Given the description of an element on the screen output the (x, y) to click on. 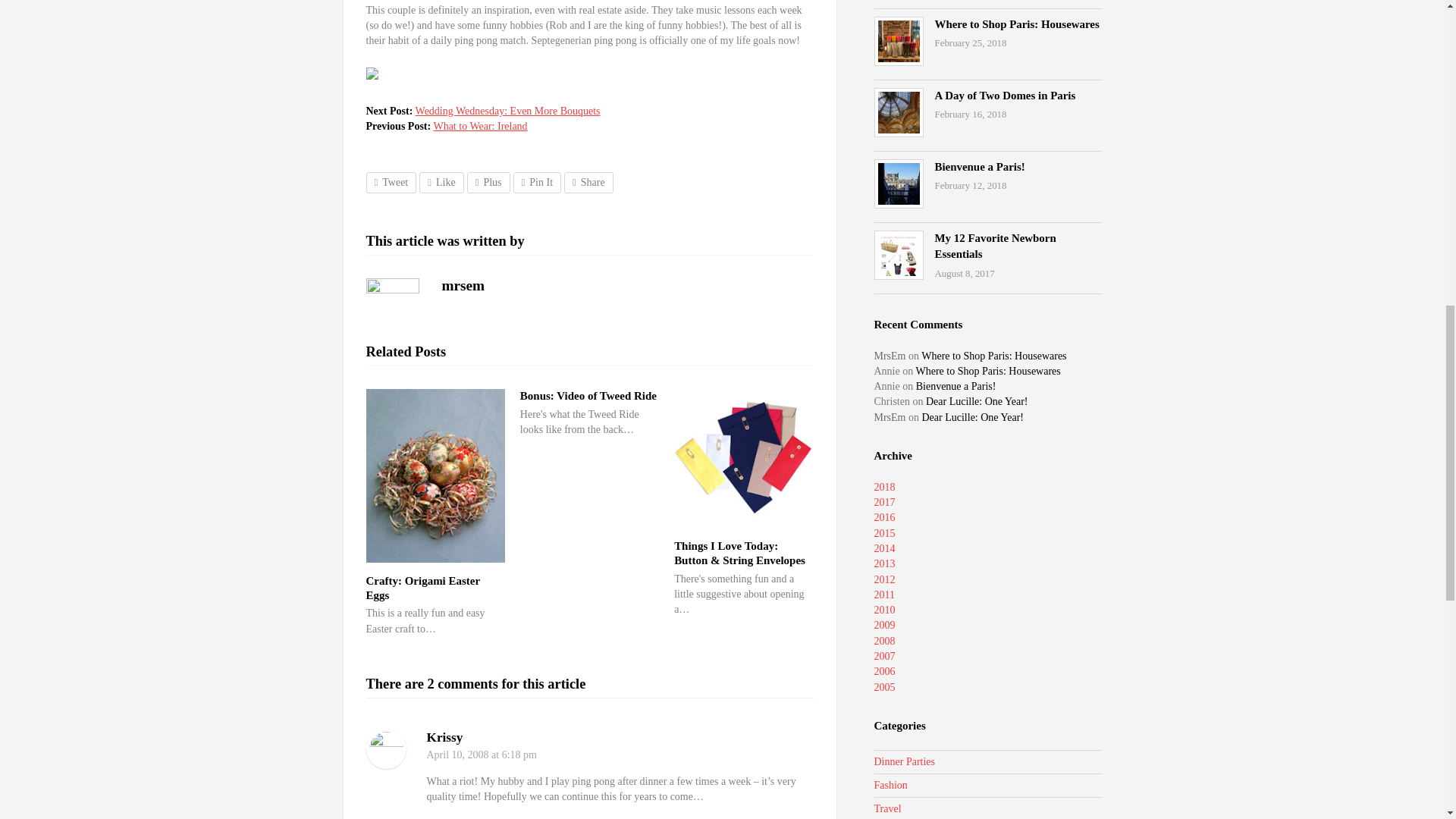
Share on LinkedIn (588, 182)
Wedding Wednesday: Even More Bouquets (506, 111)
What to Wear: Ireland (479, 125)
Visit Author Page (392, 304)
Crafty: Origami Easter Eggs (422, 587)
Share on Facebook (441, 182)
April 10, 2008 (456, 754)
Share on Pinterest (536, 182)
Bonus: Video of Tweed Ride (587, 395)
Tweet (390, 182)
mrsem (462, 285)
Like (441, 182)
Share (588, 182)
Pin It (536, 182)
Share on Twitter (390, 182)
